Given the description of an element on the screen output the (x, y) to click on. 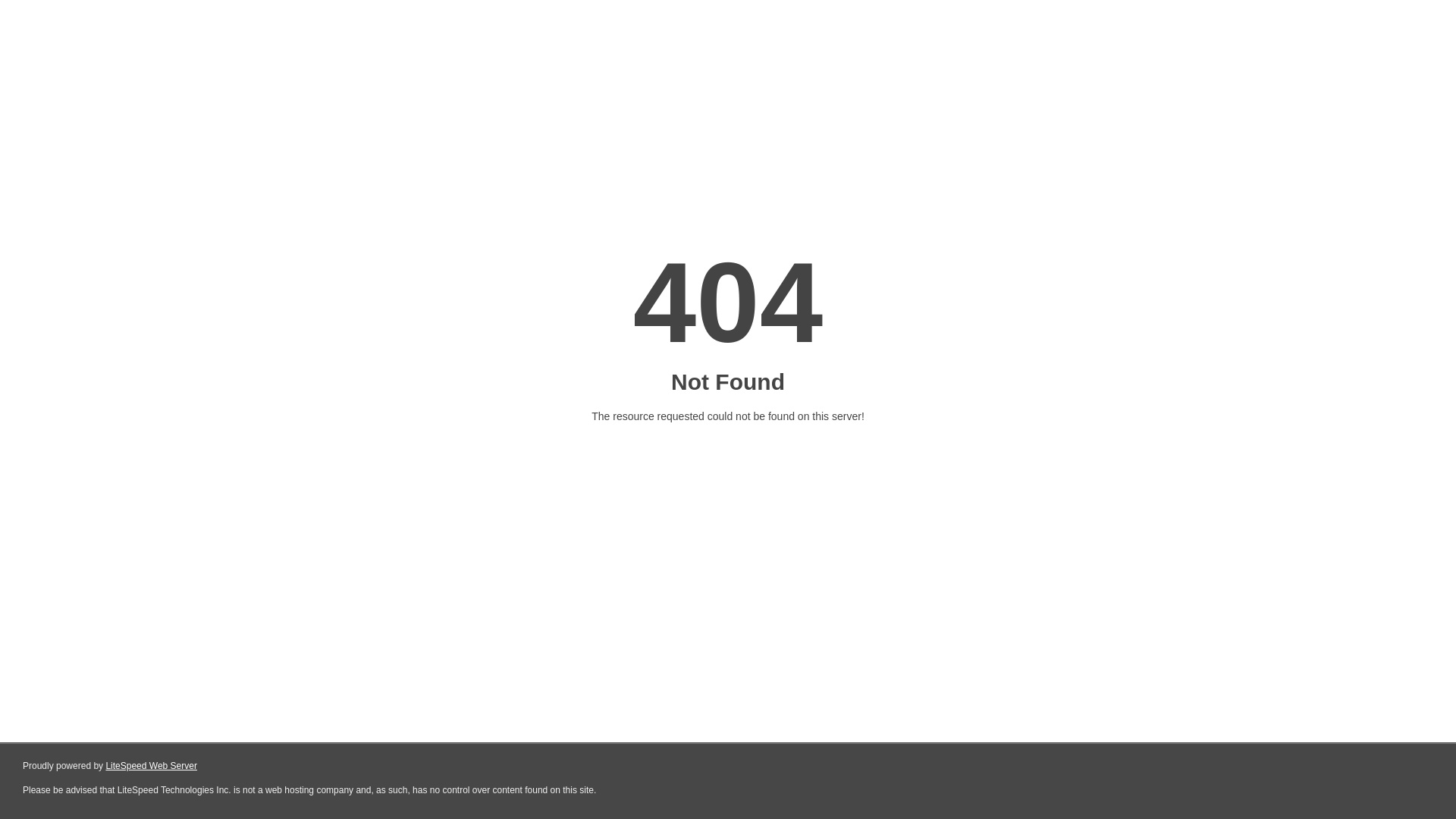
LiteSpeed Web Server Element type: text (151, 765)
